Given the description of an element on the screen output the (x, y) to click on. 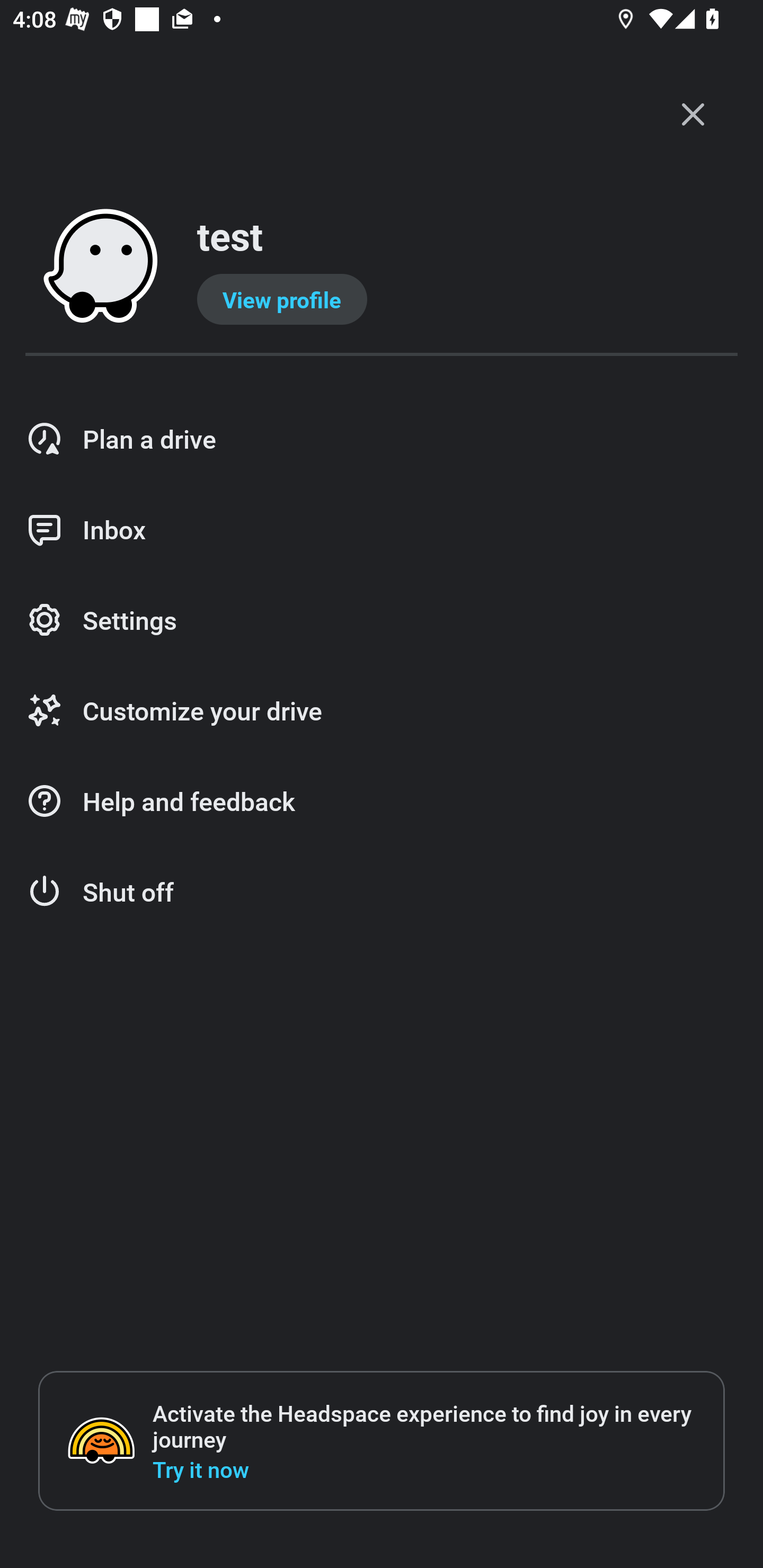
test View profile (381, 266)
View profile (281, 299)
ACTION_CELL_ICON Plan a drive ACTION_CELL_TEXT (381, 438)
ACTION_CELL_ICON Inbox ACTION_CELL_TEXT (381, 529)
ACTION_CELL_ICON Settings ACTION_CELL_TEXT (381, 620)
ACTION_CELL_ICON Shut off ACTION_CELL_TEXT (381, 891)
